Given the description of an element on the screen output the (x, y) to click on. 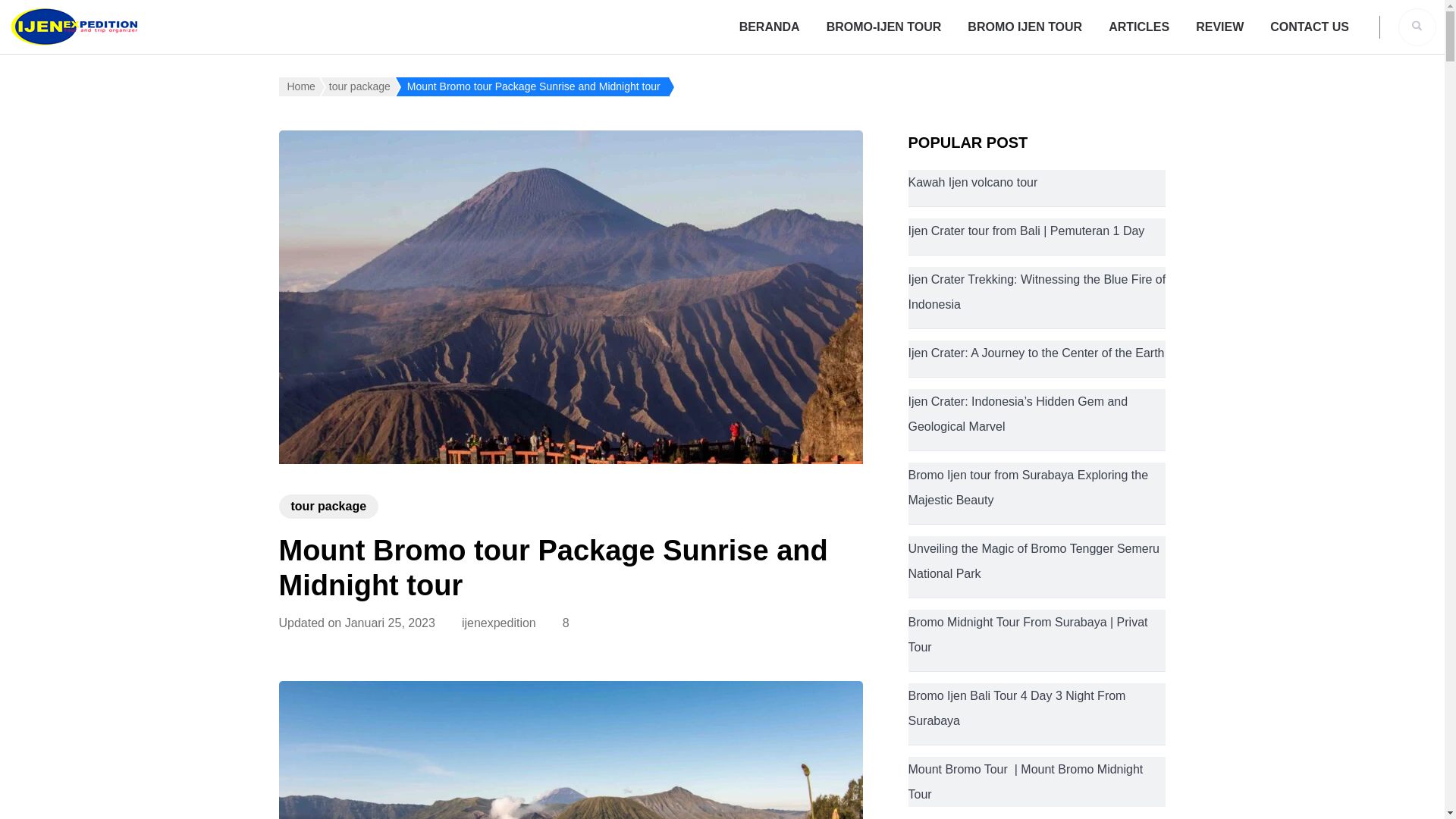
tour package (328, 506)
REVIEW (1219, 26)
ARTICLES (1138, 26)
BROMO-IJEN TOUR (884, 26)
tour package (357, 86)
BROMO IJEN TOUR (1024, 26)
CONTACT US (1309, 26)
BERANDA (769, 26)
Home (298, 86)
Januari 25, 2023 (390, 622)
